Given the description of an element on the screen output the (x, y) to click on. 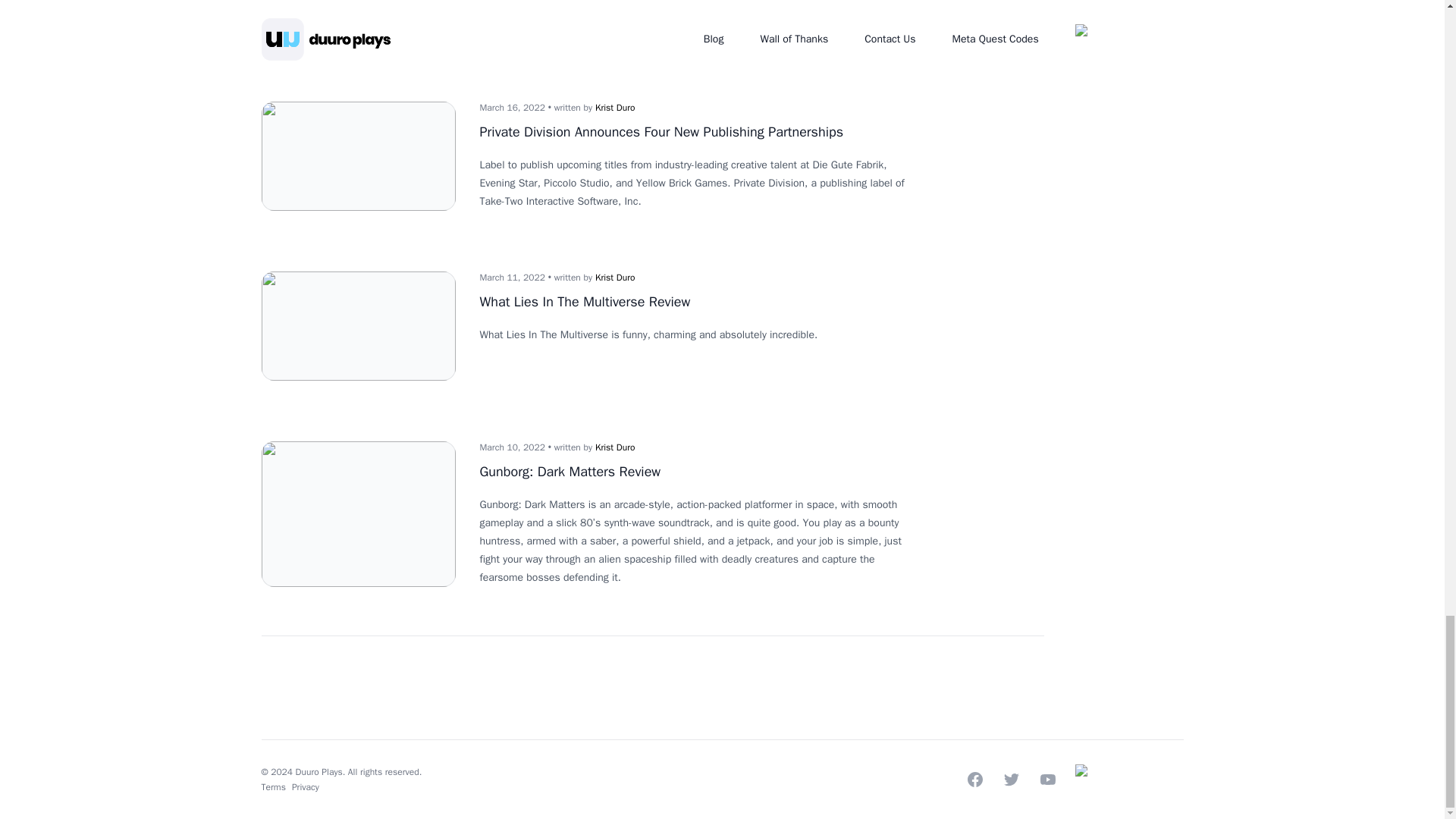
What Lies In The Multiverse Review (584, 301)
Krist Duro (614, 277)
Krist Duro (614, 107)
Gunborg: Dark Matters Review (570, 471)
Private Division Announces Four New Publishing Partnerships (661, 131)
Terms (272, 787)
Krist Duro (614, 447)
Privacy (305, 787)
